Given the description of an element on the screen output the (x, y) to click on. 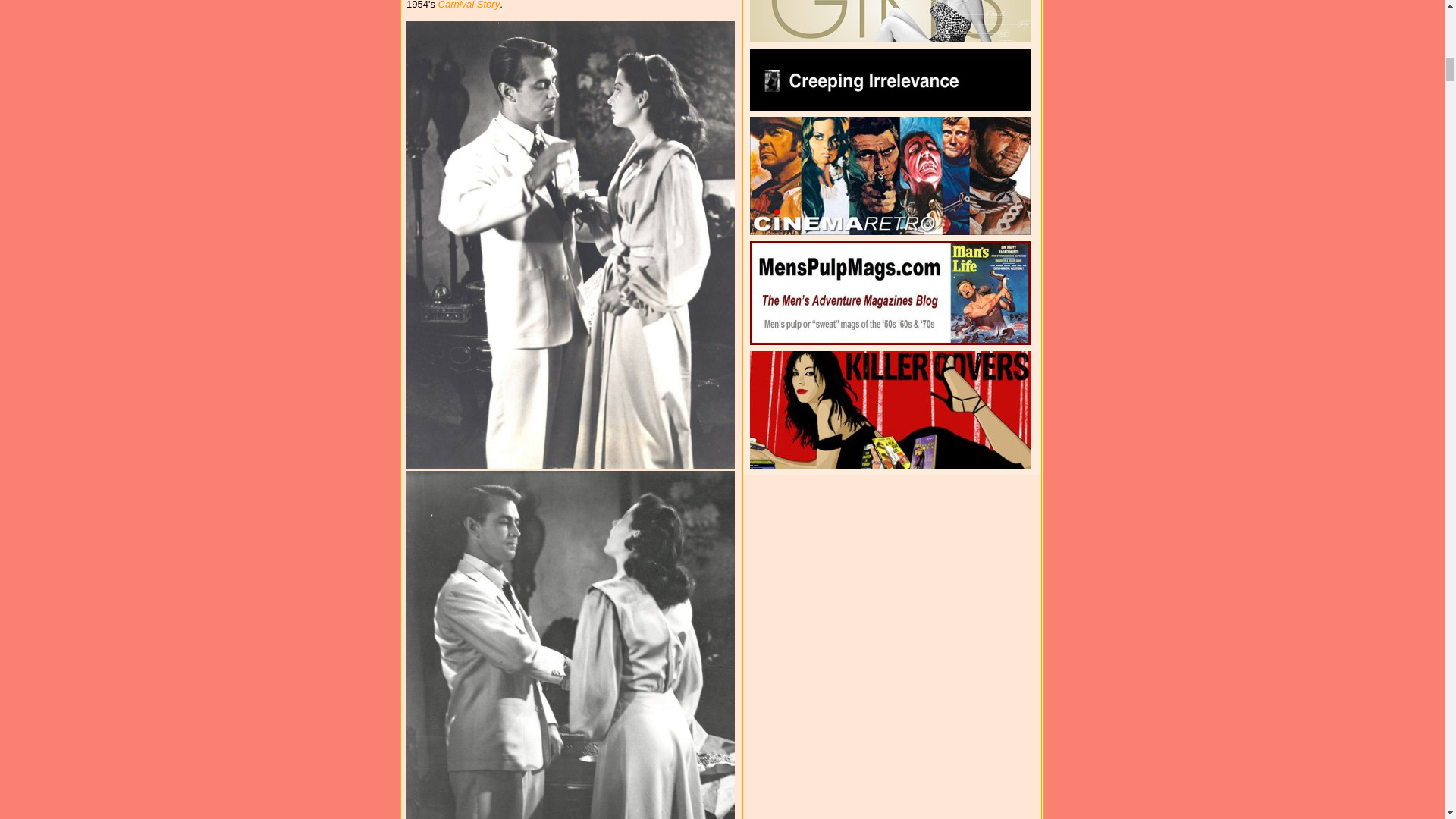
Carnival Story (469, 4)
